Given the description of an element on the screen output the (x, y) to click on. 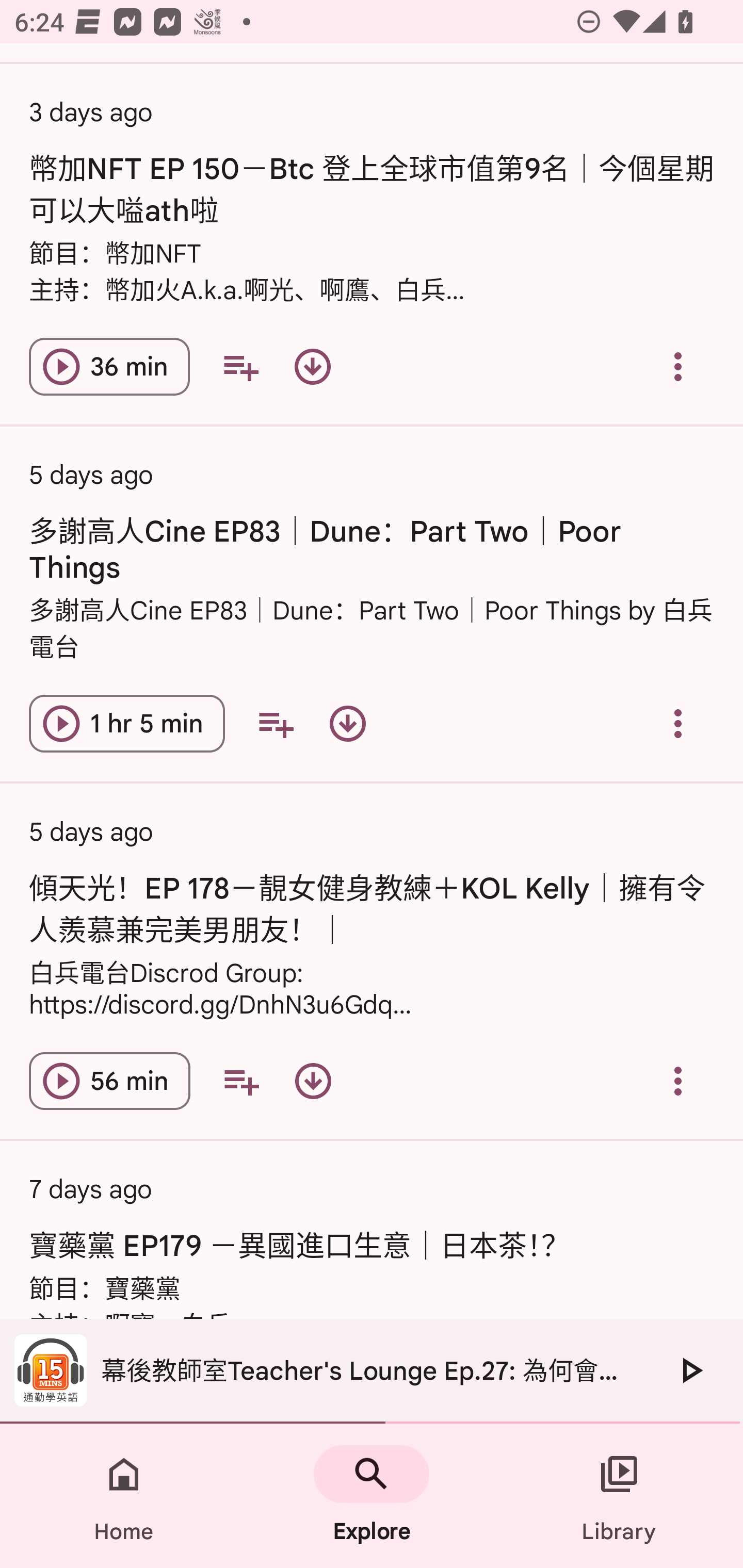
Add to your queue (240, 366)
Download episode (312, 366)
Overflow menu (677, 366)
Add to your queue (275, 723)
Download episode (347, 723)
Overflow menu (677, 723)
Add to your queue (241, 1081)
Download episode (313, 1081)
Overflow menu (677, 1081)
Play (690, 1370)
Home (123, 1495)
Library (619, 1495)
